Given the description of an element on the screen output the (x, y) to click on. 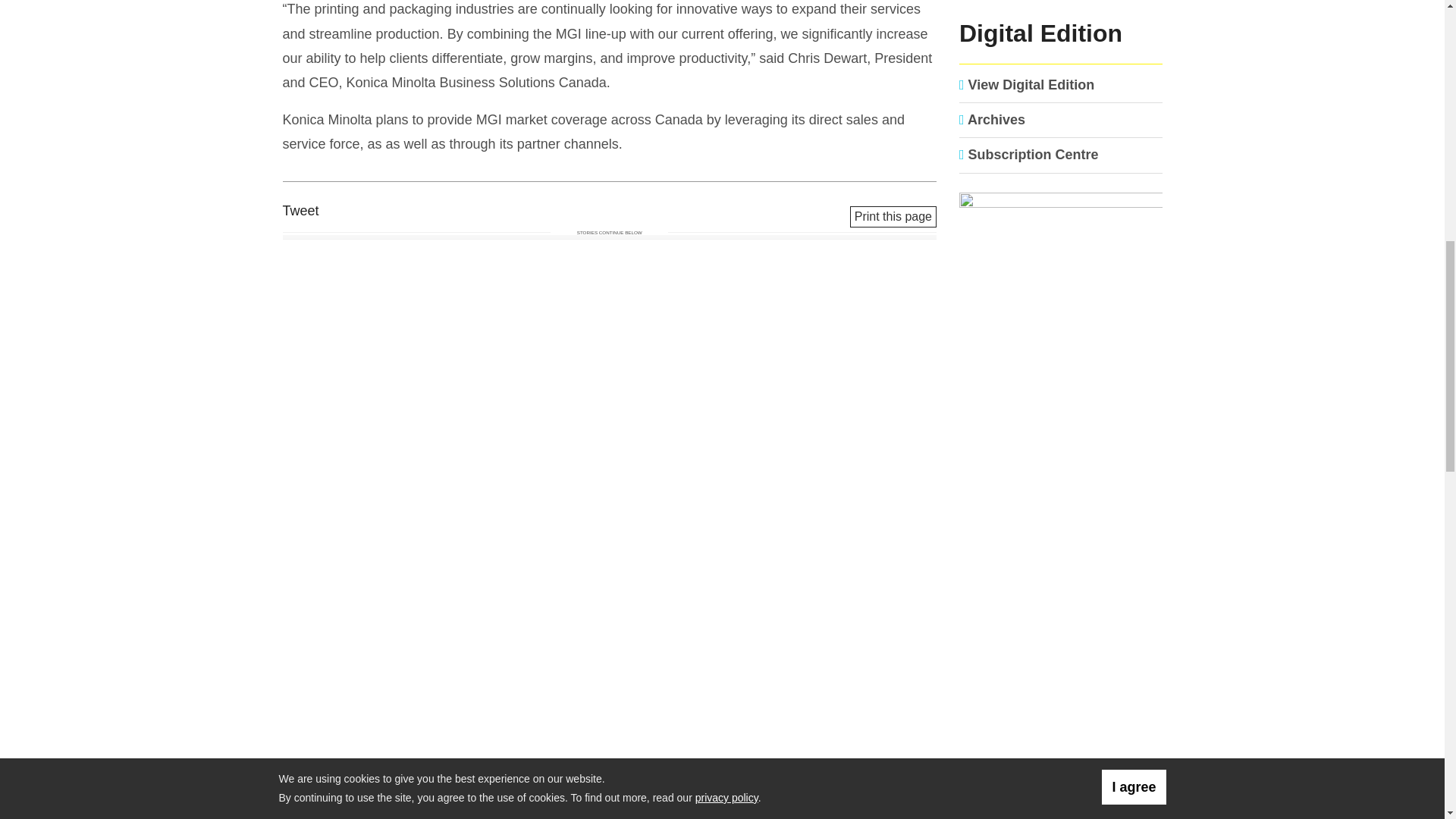
3rd party ad content (1060, 769)
3rd party ad content (1060, 2)
3rd party ad content (1060, 419)
3rd party ad content (1060, 616)
